Given the description of an element on the screen output the (x, y) to click on. 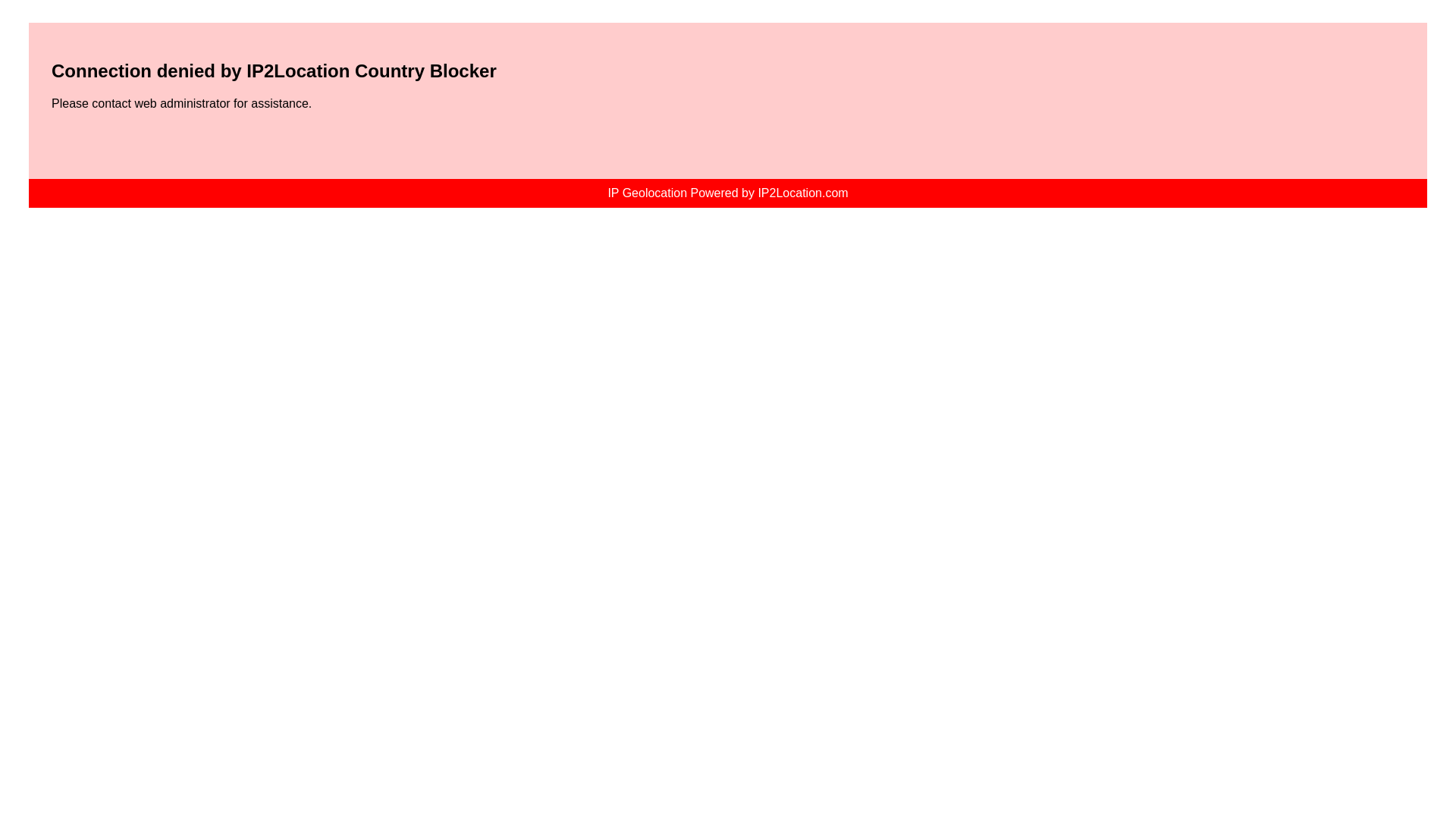
IP Geolocation Powered by IP2Location.com (727, 192)
